Given the description of an element on the screen output the (x, y) to click on. 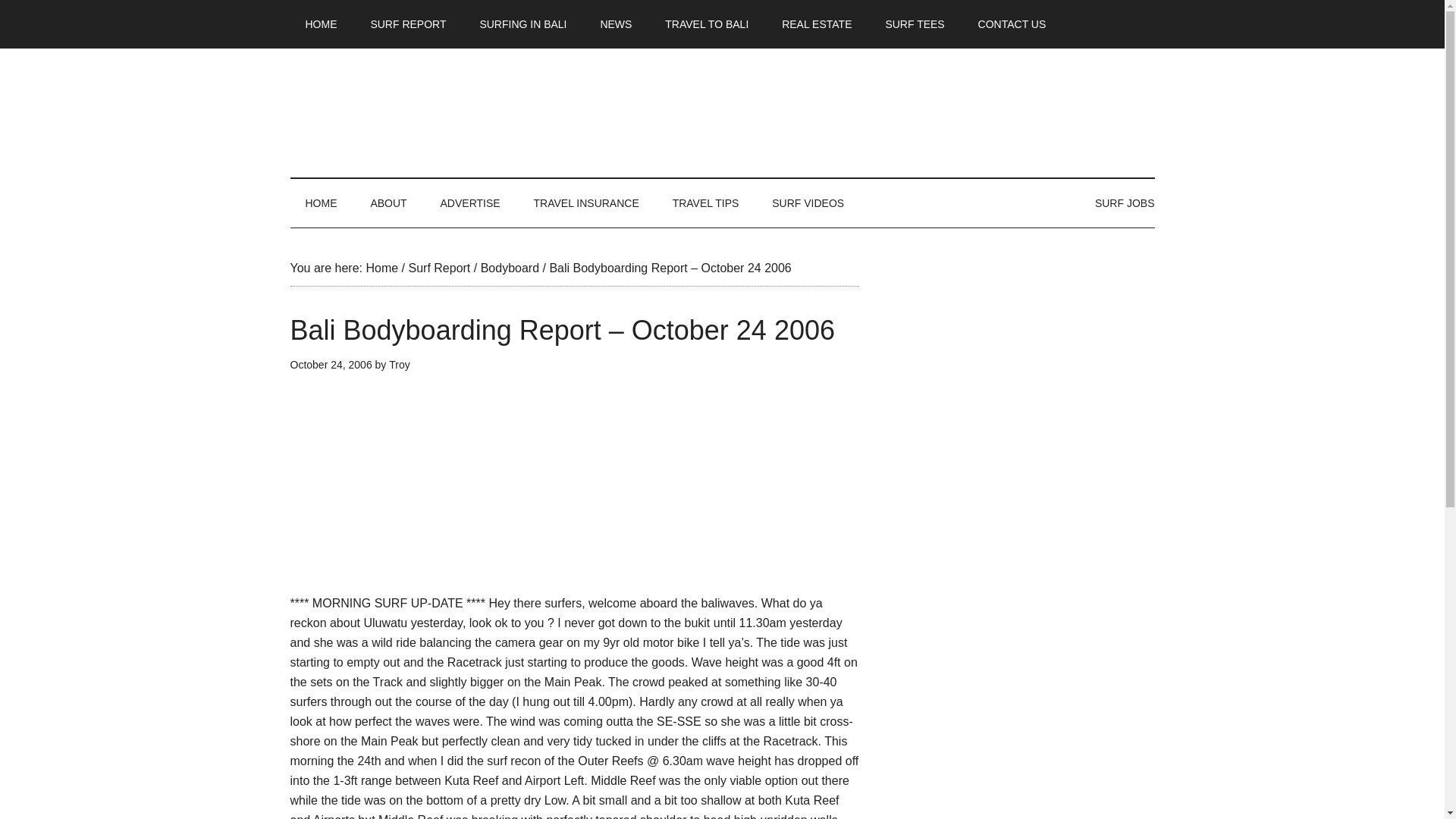
NEWS (615, 24)
HOME (320, 24)
SURFING IN BALI (522, 24)
SURF REPORT (408, 24)
